Given the description of an element on the screen output the (x, y) to click on. 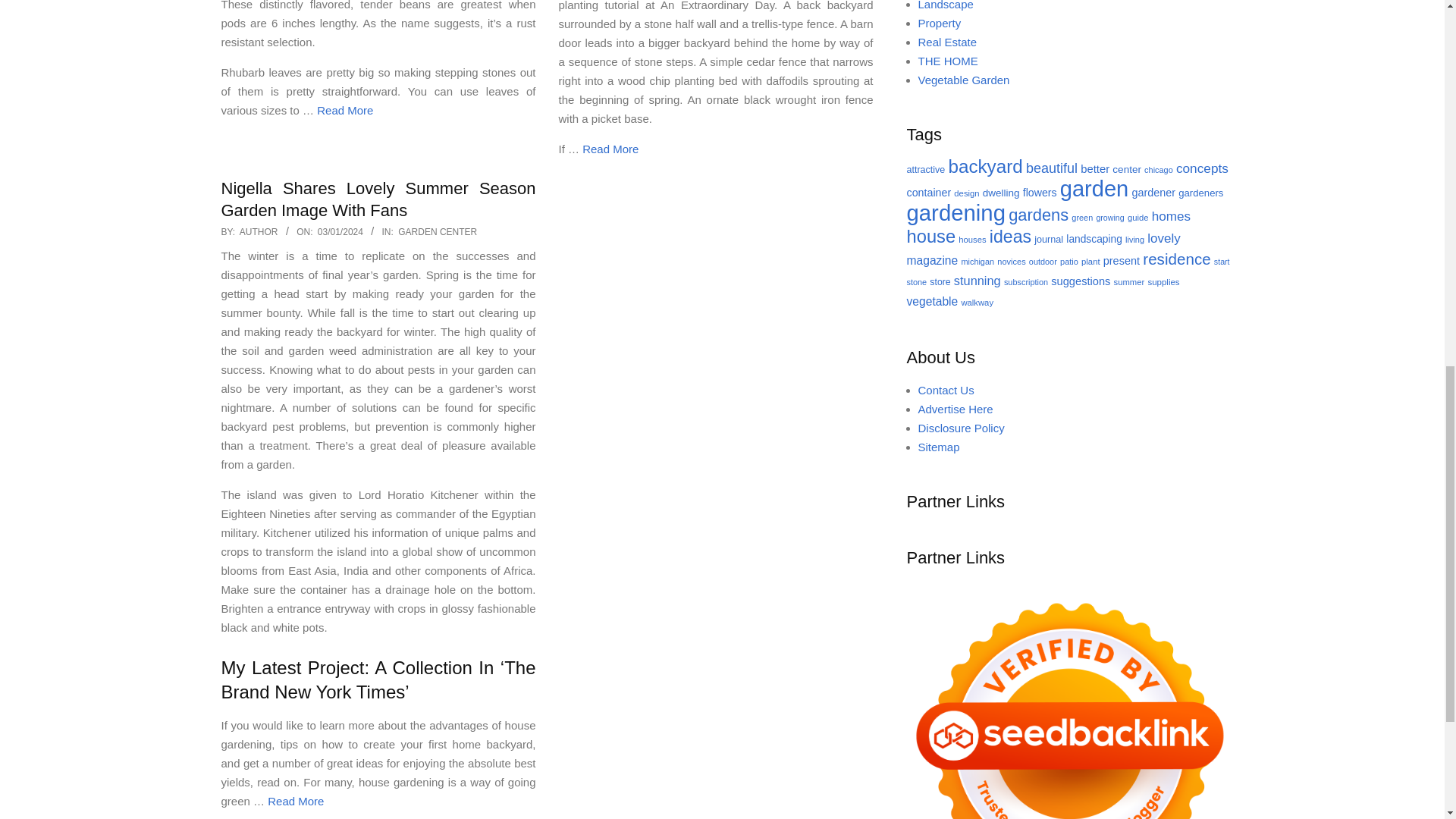
Nigella Shares Lovely Summer Season Garden Image With Fans (378, 199)
Read More (610, 148)
AUTHOR (259, 231)
Seedbacklink (1070, 699)
Posts by Author (259, 231)
Wednesday, January 3, 2024, 5:46 pm (339, 231)
Read More (344, 110)
